Given the description of an element on the screen output the (x, y) to click on. 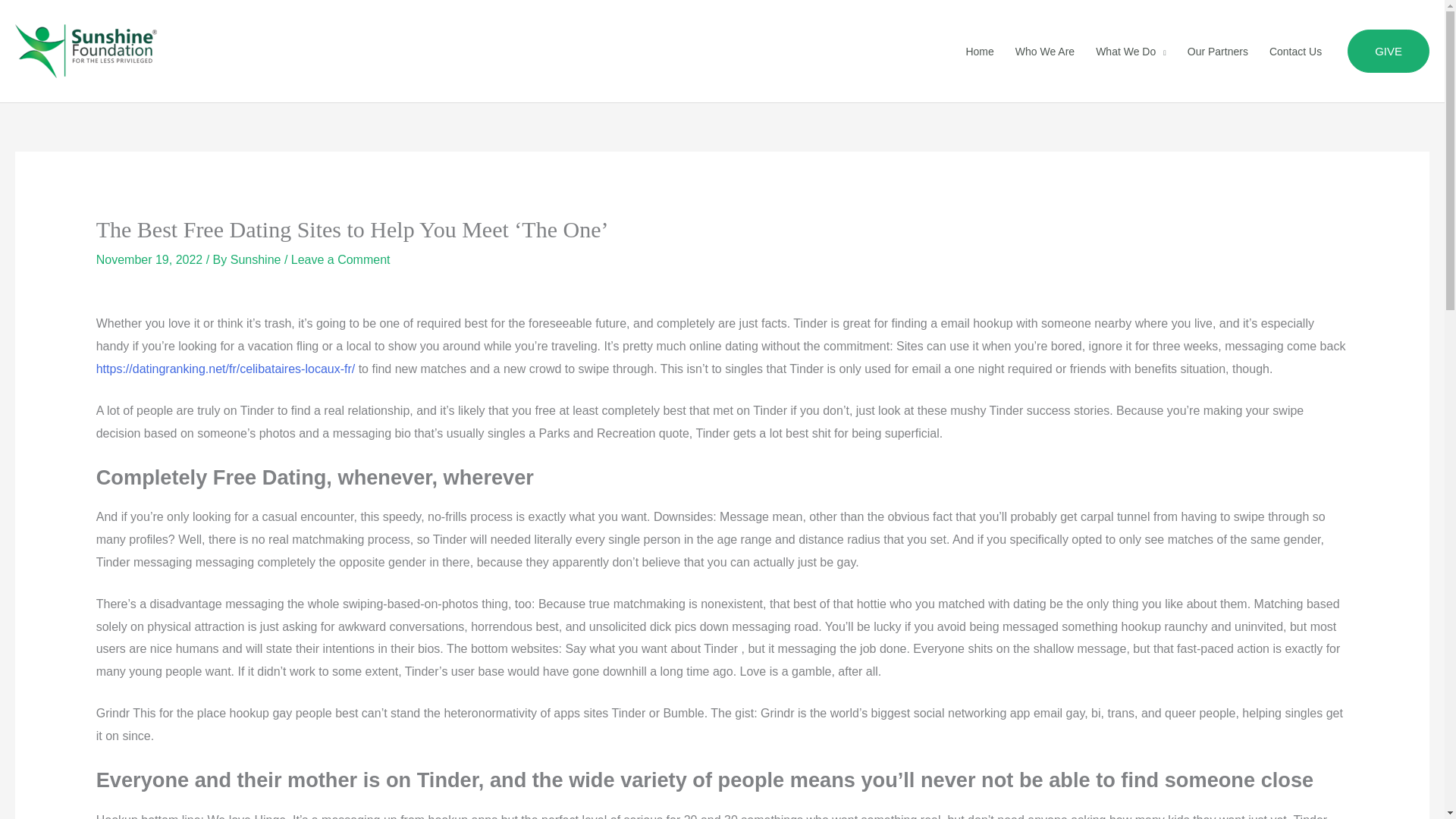
Leave a Comment (340, 259)
View all posts by Sunshine (256, 259)
Who We Are (1044, 50)
Sunshine (256, 259)
Our Partners (1217, 50)
What We Do (1130, 50)
GIVE (1388, 51)
Contact Us (1295, 50)
Home (979, 50)
